Given the description of an element on the screen output the (x, y) to click on. 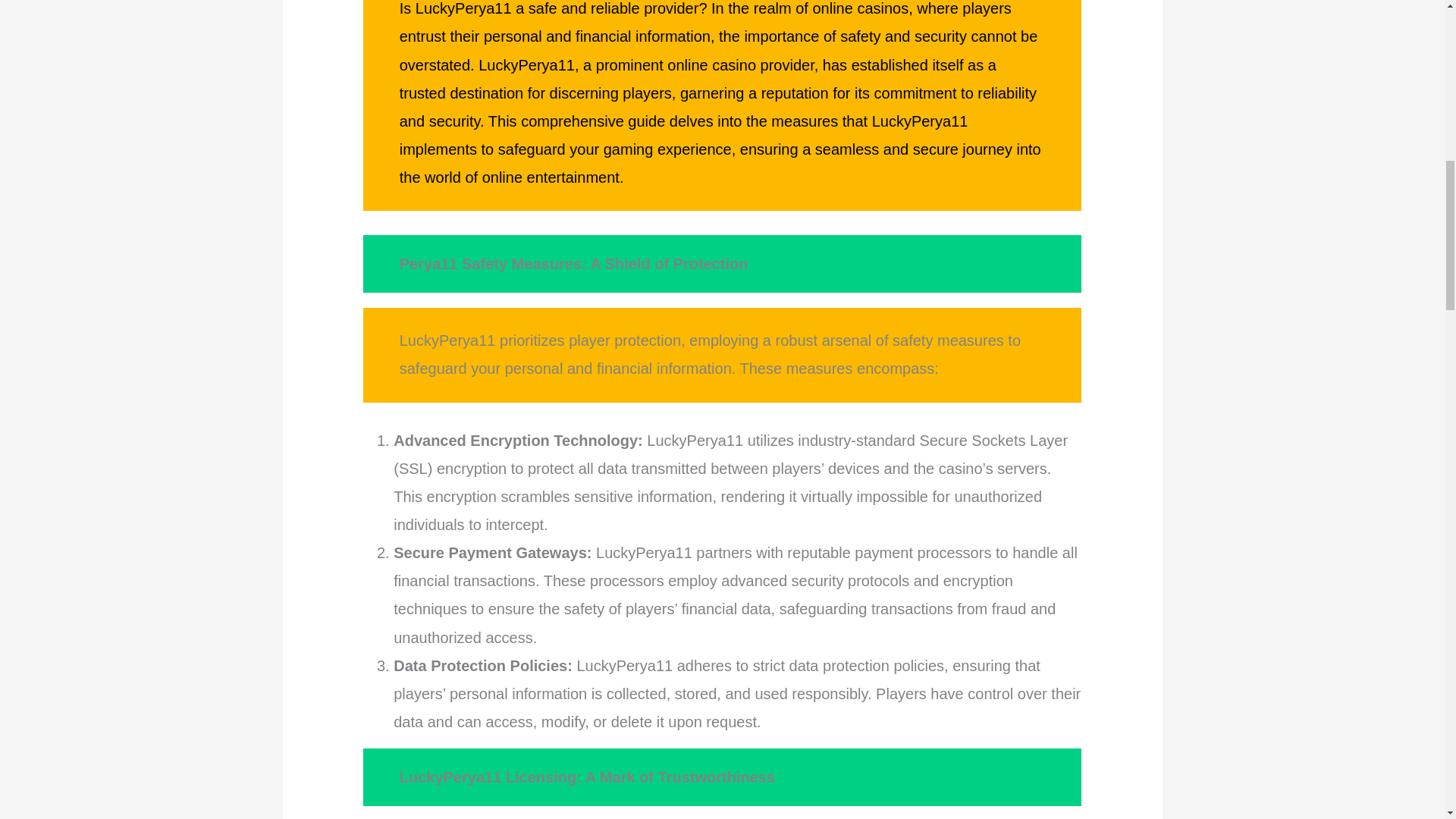
LuckyPerya11 (527, 64)
